Given the description of an element on the screen output the (x, y) to click on. 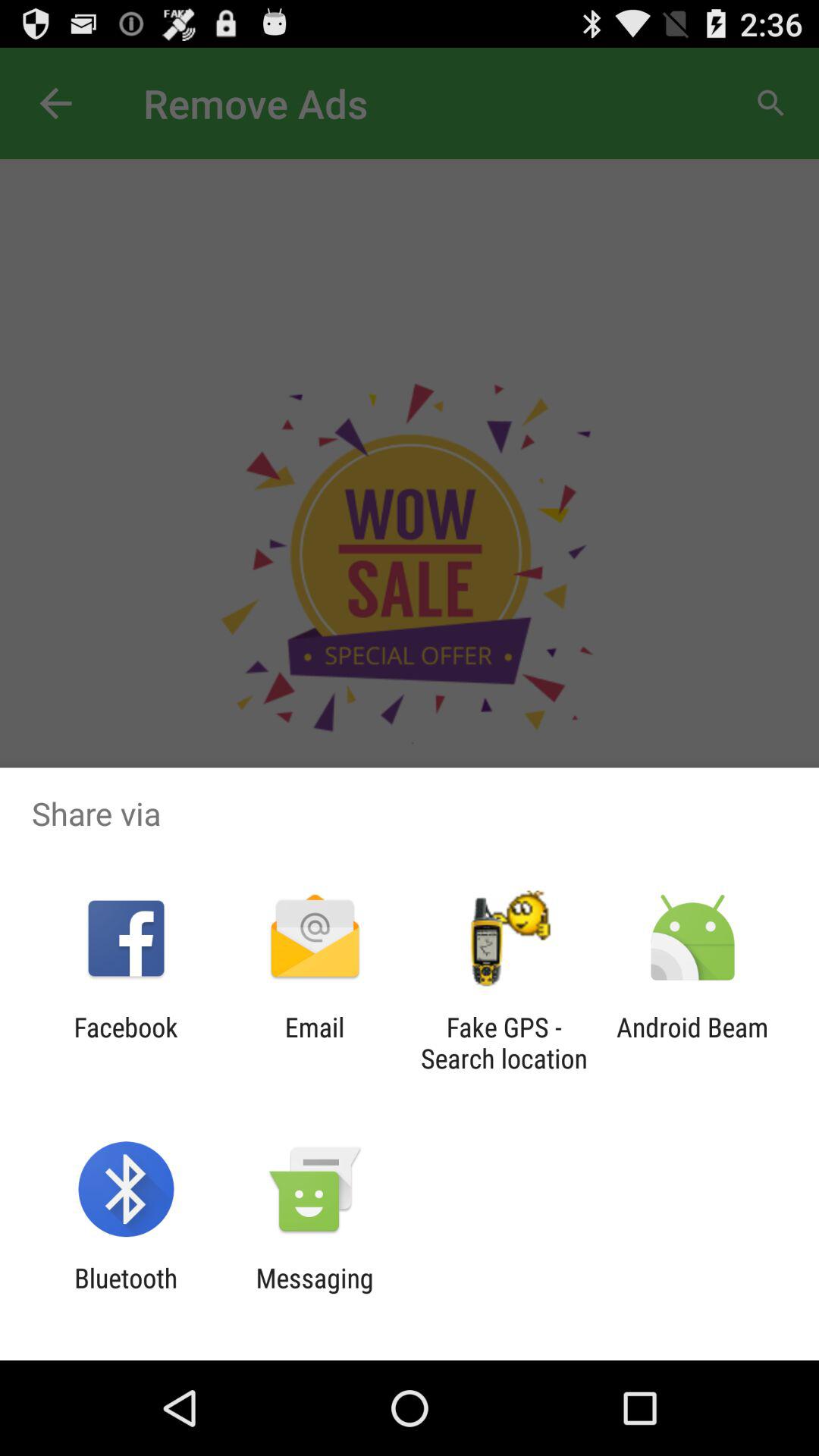
choose android beam app (692, 1042)
